Given the description of an element on the screen output the (x, y) to click on. 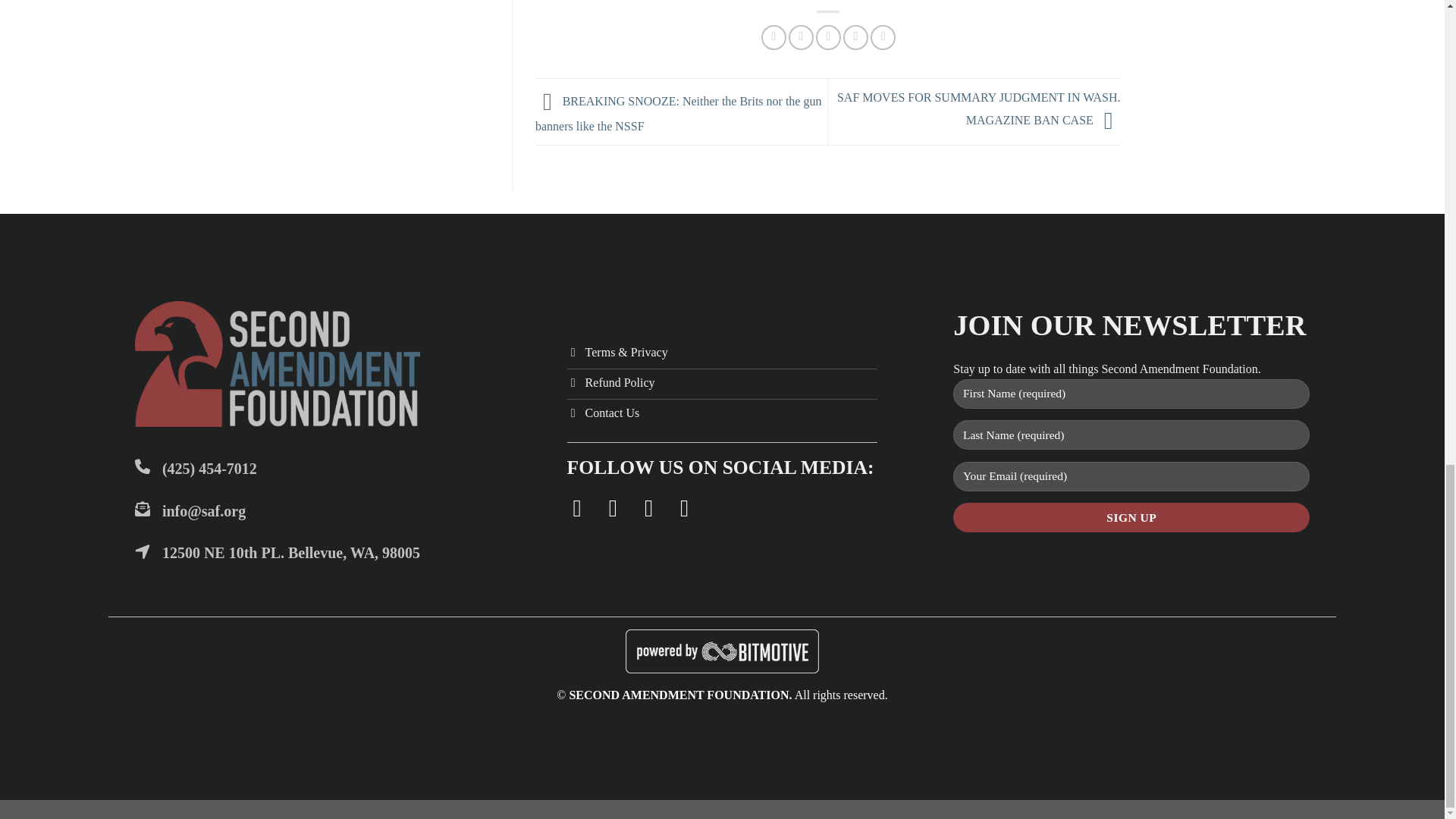
Email to a Friend (828, 37)
Share on LinkedIn (882, 37)
Sign Up (1130, 517)
Share on Twitter (801, 37)
Pin on Pinterest (855, 37)
Share on Facebook (773, 37)
